Given the description of an element on the screen output the (x, y) to click on. 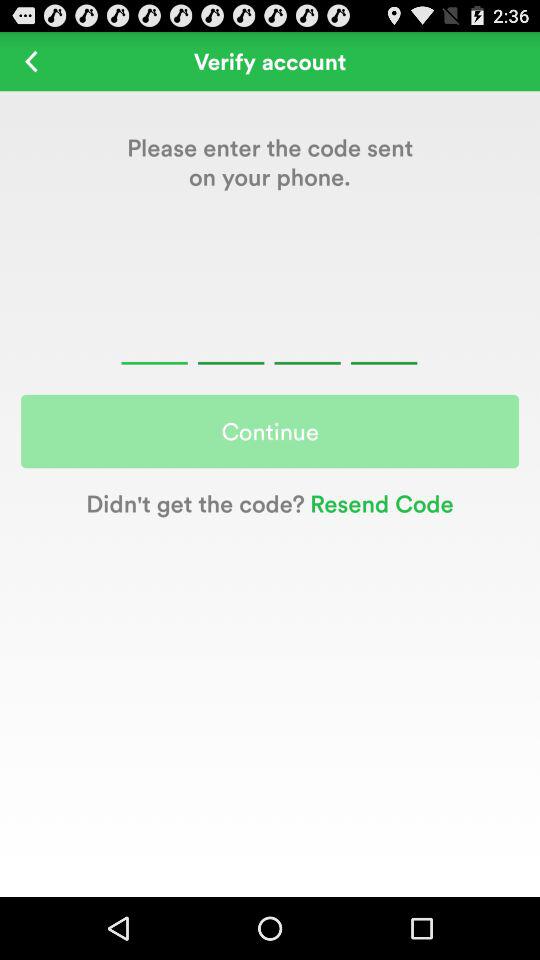
back to previous menu (31, 60)
